Given the description of an element on the screen output the (x, y) to click on. 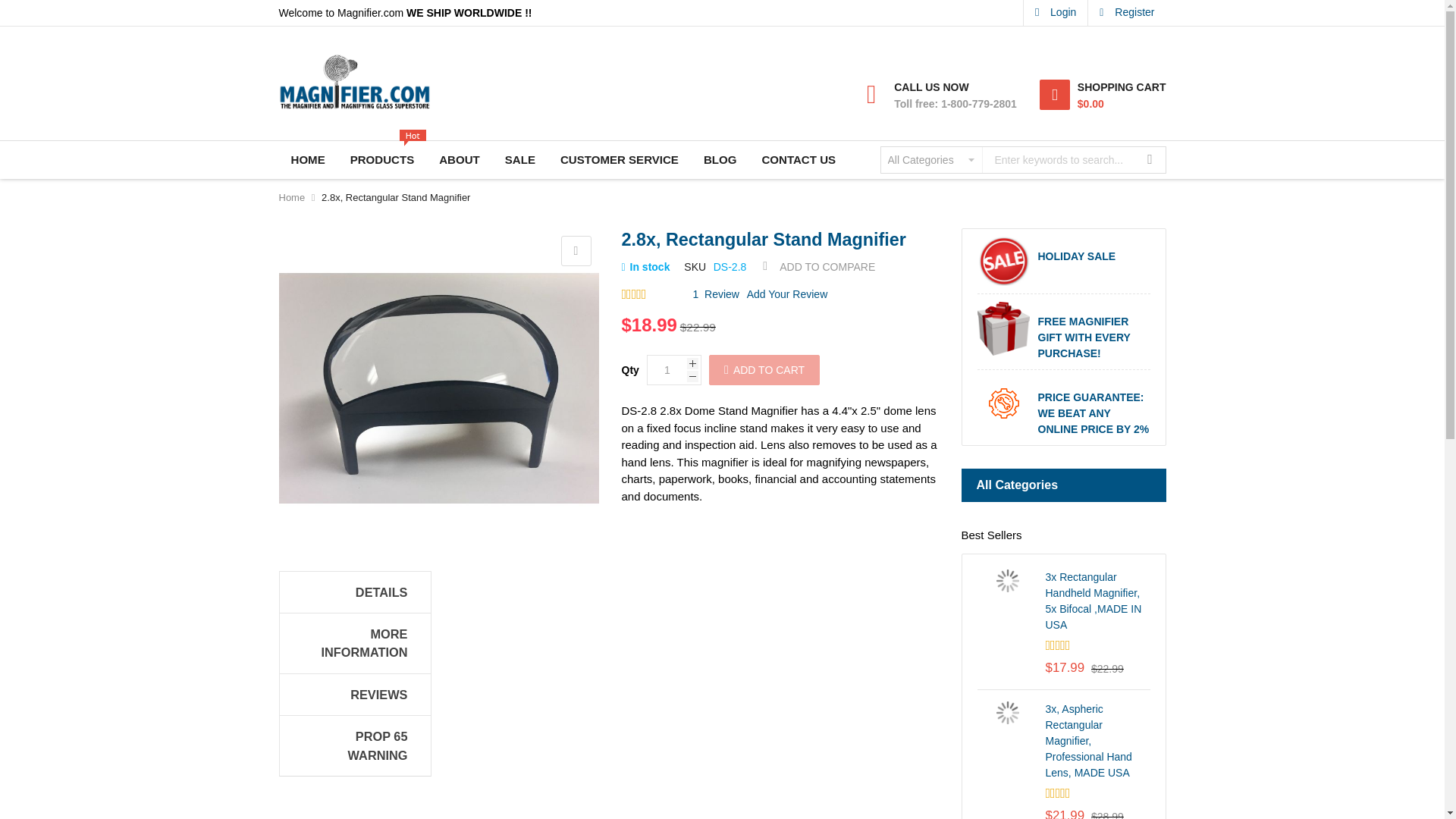
Add to Cart (764, 369)
Availability (645, 267)
Login (1055, 12)
The magnifier and magnifying glass superstore (354, 81)
Go to Home Page (292, 197)
Register (1126, 12)
1 (667, 369)
Qty (667, 369)
ABOUT (459, 159)
PRODUCTS (381, 159)
